Given the description of an element on the screen output the (x, y) to click on. 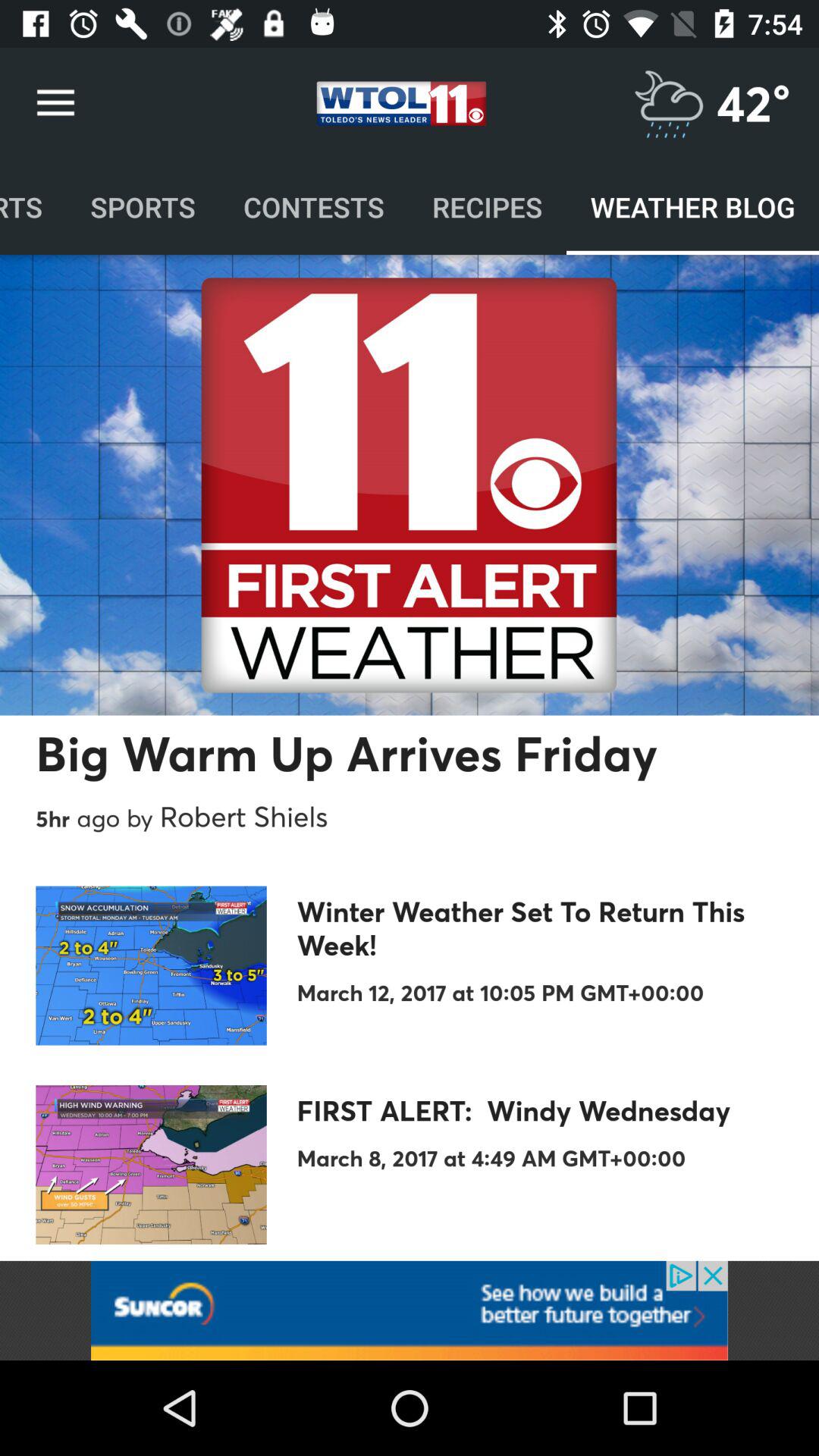
follow the banner (409, 1310)
